Given the description of an element on the screen output the (x, y) to click on. 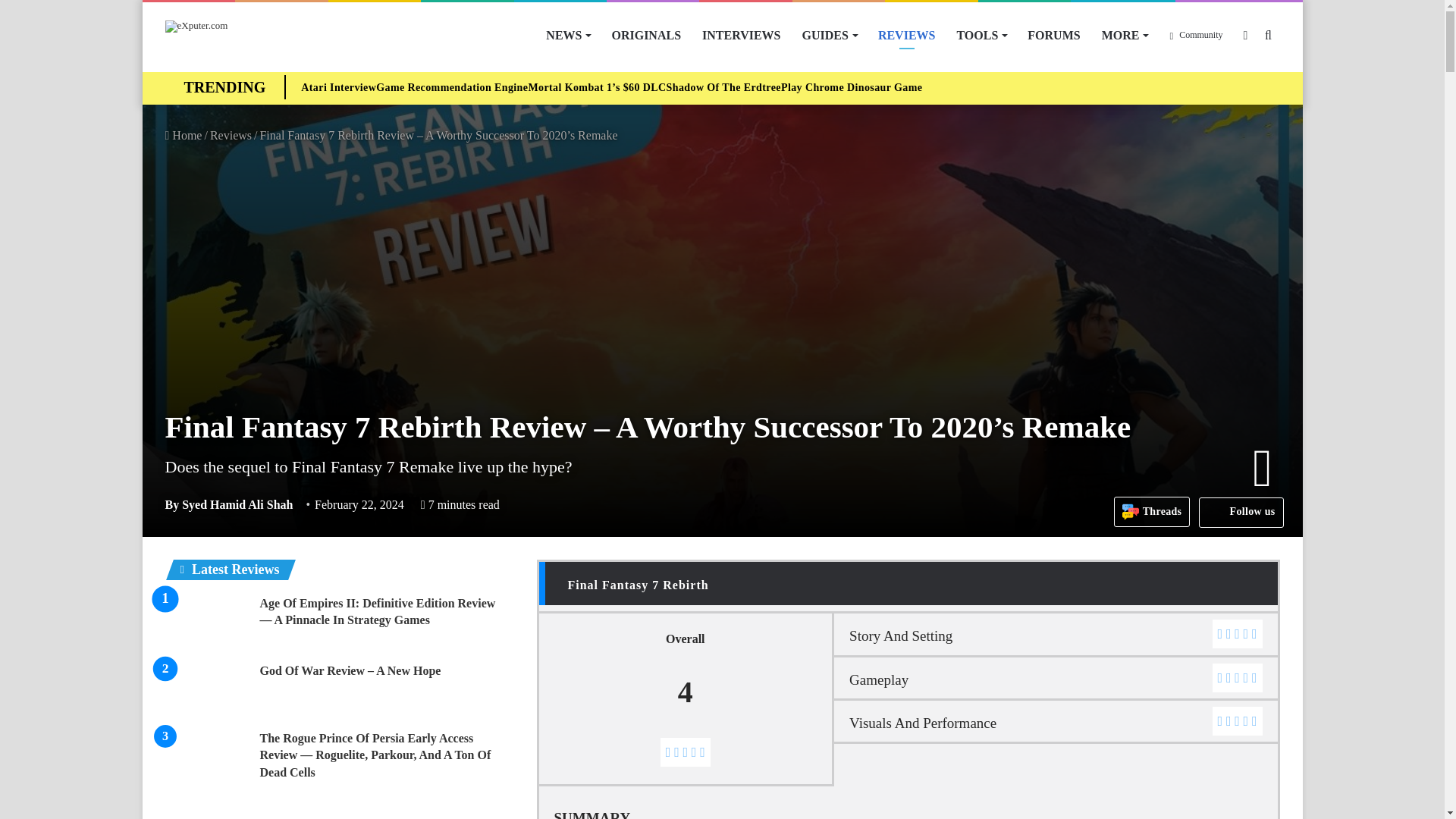
REVIEWS (906, 35)
INTERVIEWS (740, 35)
FORUMS (1053, 35)
ORIGINALS (645, 35)
MORE (1124, 35)
NEWS (567, 35)
GUIDES (829, 35)
Syed Hamid Ali Shah (229, 504)
TOOLS (980, 35)
eXputer.com (196, 26)
